Given the description of an element on the screen output the (x, y) to click on. 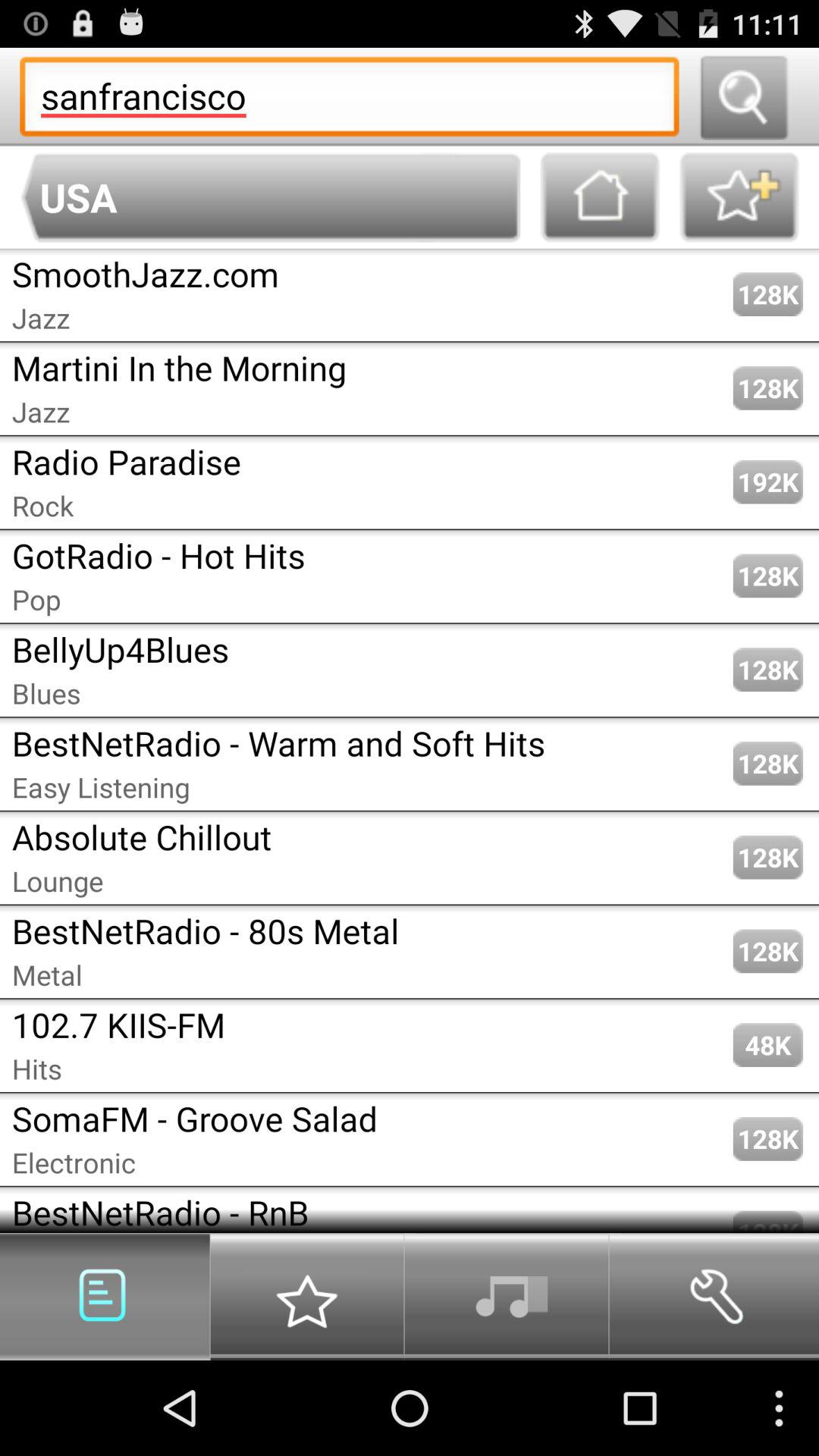
search (743, 96)
